Given the description of an element on the screen output the (x, y) to click on. 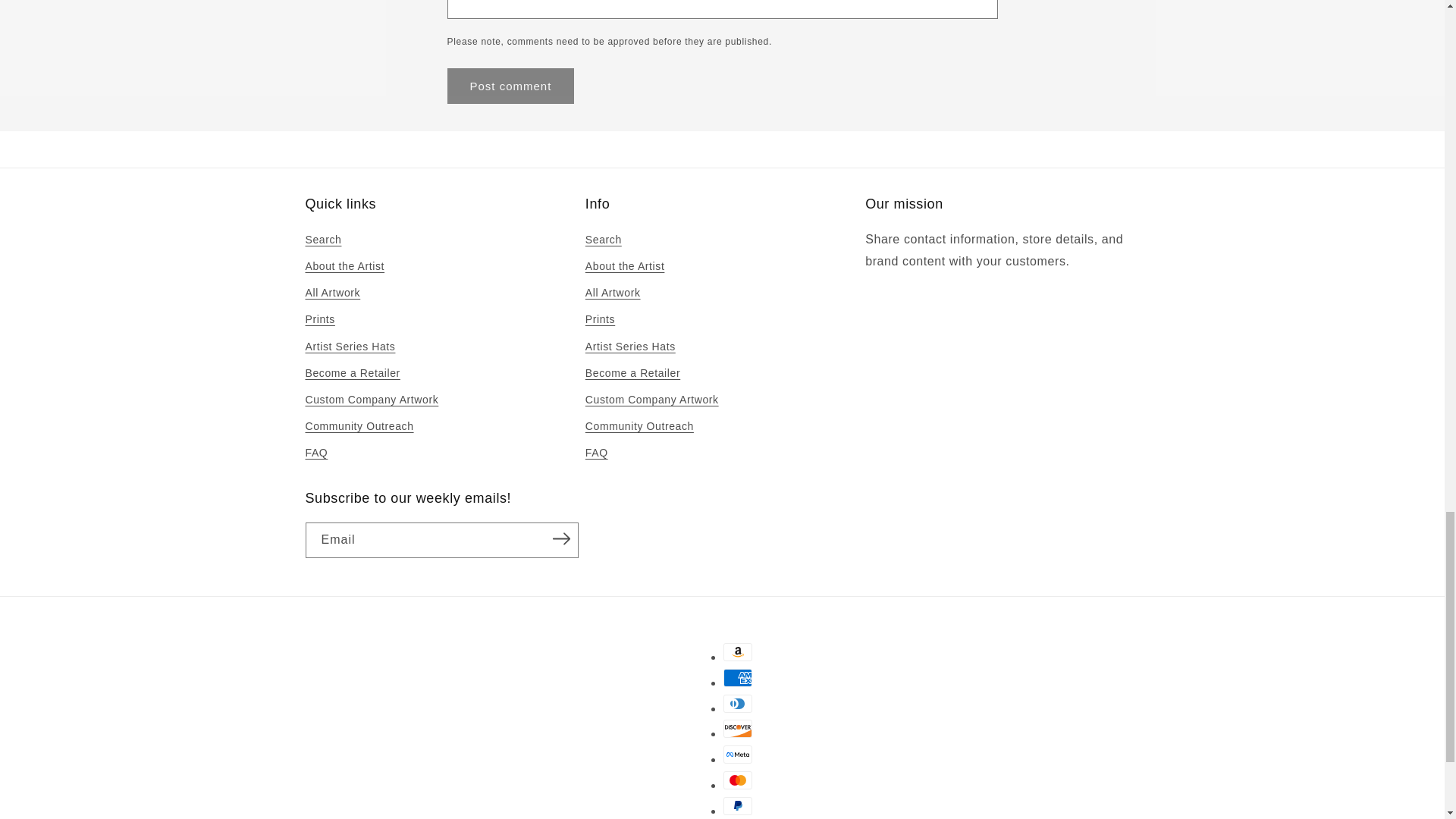
Post comment (510, 85)
Meta Pay (737, 754)
PayPal (737, 805)
Discover (737, 728)
American Express (737, 678)
Diners Club (737, 703)
Mastercard (737, 780)
Amazon (737, 651)
